Given the description of an element on the screen output the (x, y) to click on. 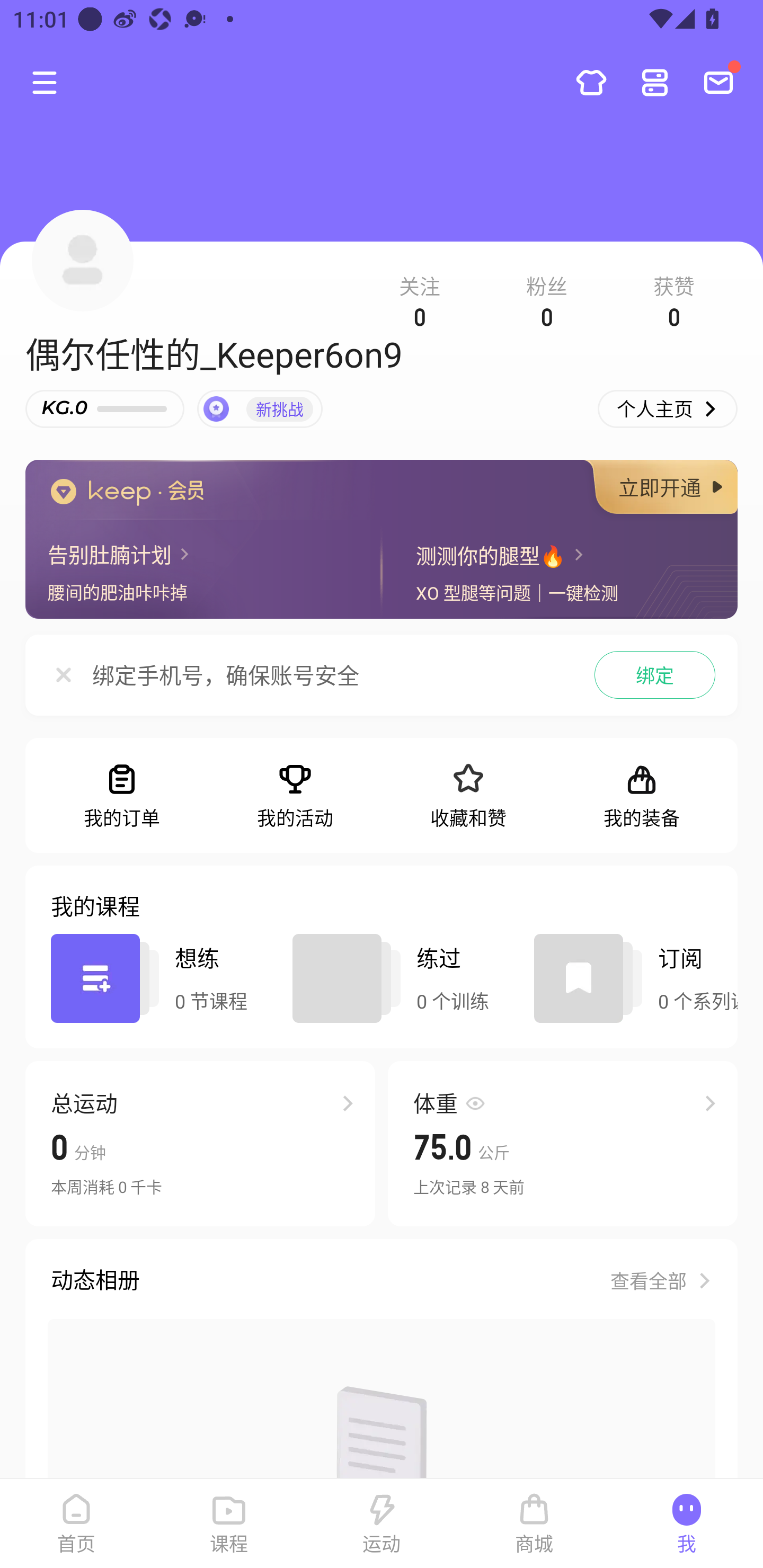
Left Button In Title Bar (50, 82)
RightSecondButton (591, 82)
RightSecondButton (654, 82)
Right Button In Title Bar (724, 82)
关注 0 (419, 298)
粉丝 0 (546, 298)
获赞 0 (673, 298)
偶尔任性的_Keeper6on9 (213, 353)
KG.0 (104, 409)
  新挑战 (259, 409)
个人主页 (667, 409)
立即开通 告别肚腩计划 腰间的肥油咔咔掉 测测你的腿型🔥 XO 型腿等问题｜一键检测 (381, 539)
告别肚腩计划 腰间的肥油咔咔掉 (200, 572)
测测你的腿型🔥 XO 型腿等问题｜一键检测 (561, 572)
绑定手机号，确保账号安全 绑定 (381, 677)
我的订单 (121, 795)
我的活动 (294, 795)
收藏和赞 (467, 795)
我的装备 (640, 795)
我的课程 想练 0 节课程 练过 0 个训练 订阅 0 个系列课 (381, 956)
想练 0 节课程 (163, 978)
练过 0 个训练 (405, 978)
订阅 0 个系列课 (635, 978)
总运动 0 分钟 本周消耗 0 千卡 (200, 1143)
体重 75.0 公斤 上次记录 8 天前 (562, 1143)
查看全部 (661, 1272)
首页 (76, 1523)
课程 (228, 1523)
运动 (381, 1523)
商城 (533, 1523)
我 (686, 1523)
